Given the description of an element on the screen output the (x, y) to click on. 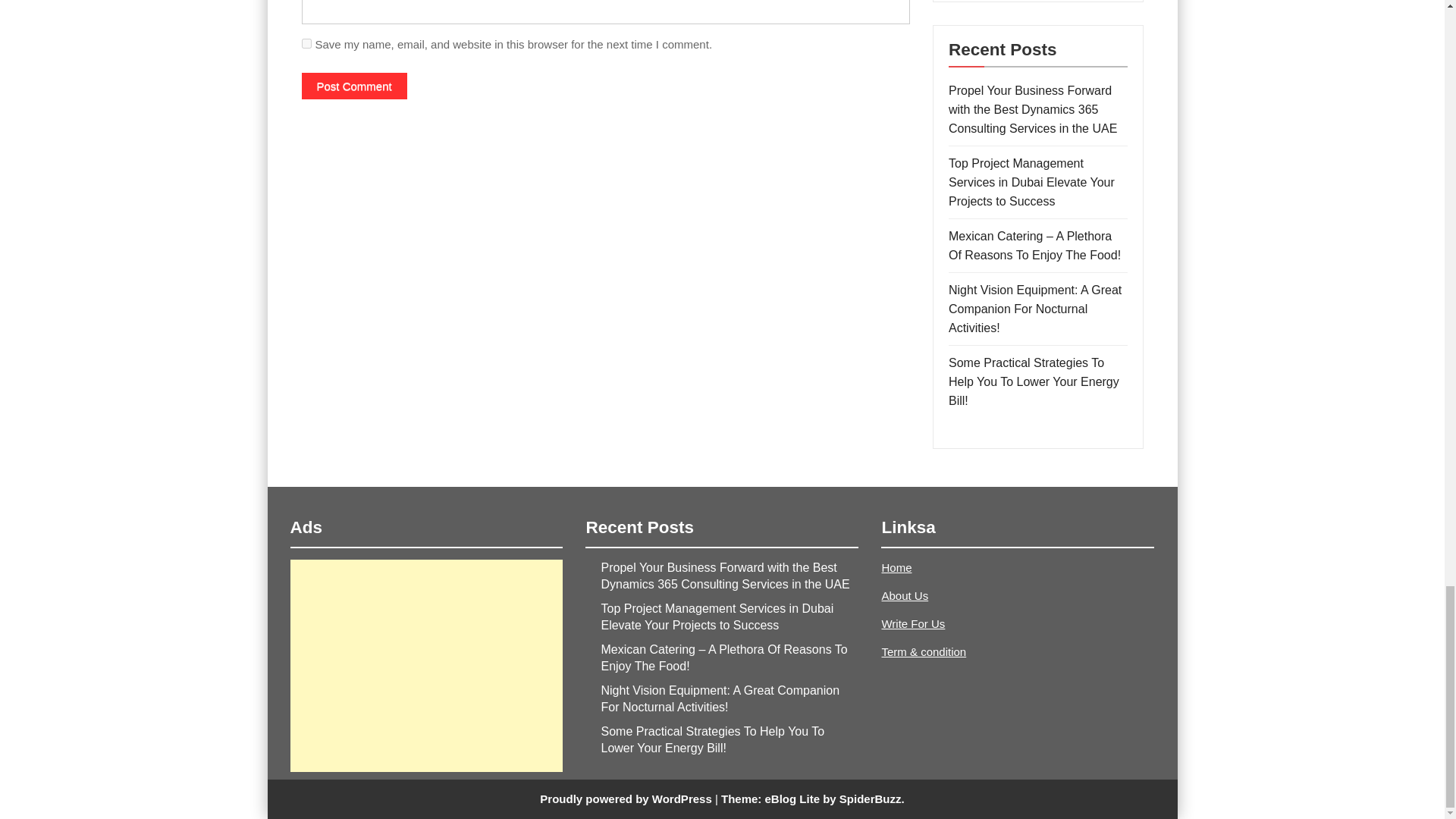
Post Comment (354, 85)
yes (306, 43)
Advertisement (425, 665)
